Given the description of an element on the screen output the (x, y) to click on. 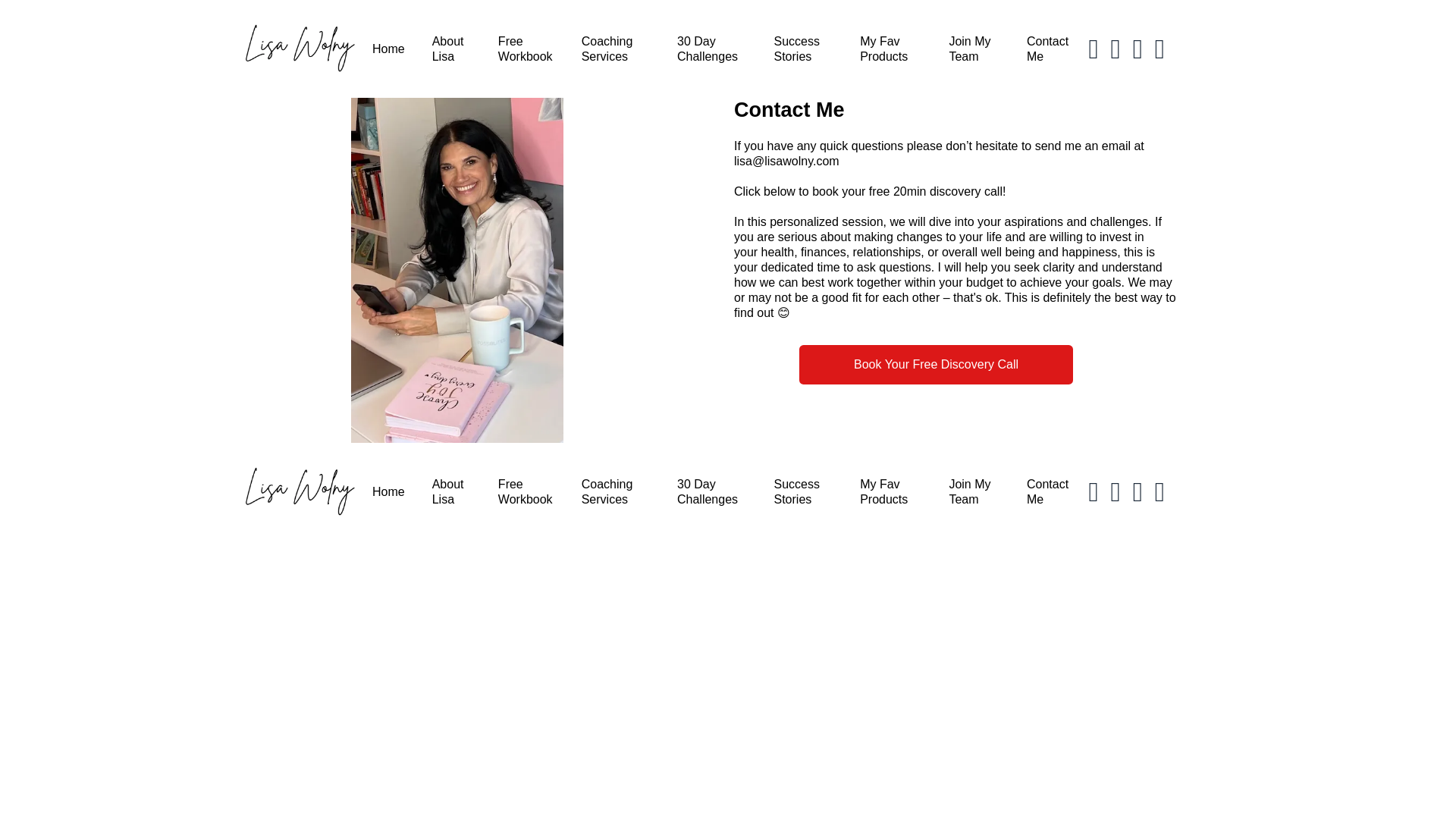
30 Day Challenges (711, 49)
Success Stories (802, 491)
Coaching Services (614, 491)
Home (388, 491)
Contact Me (1047, 491)
Contact Me (1047, 49)
Join My Team (973, 49)
Join My Team (973, 491)
Book Your Free Discovery Call (936, 364)
Free Workbook (525, 49)
About Lisa (451, 49)
About Lisa (451, 491)
Free Workbook (525, 491)
Home (388, 48)
My Fav Products (890, 49)
